Given the description of an element on the screen output the (x, y) to click on. 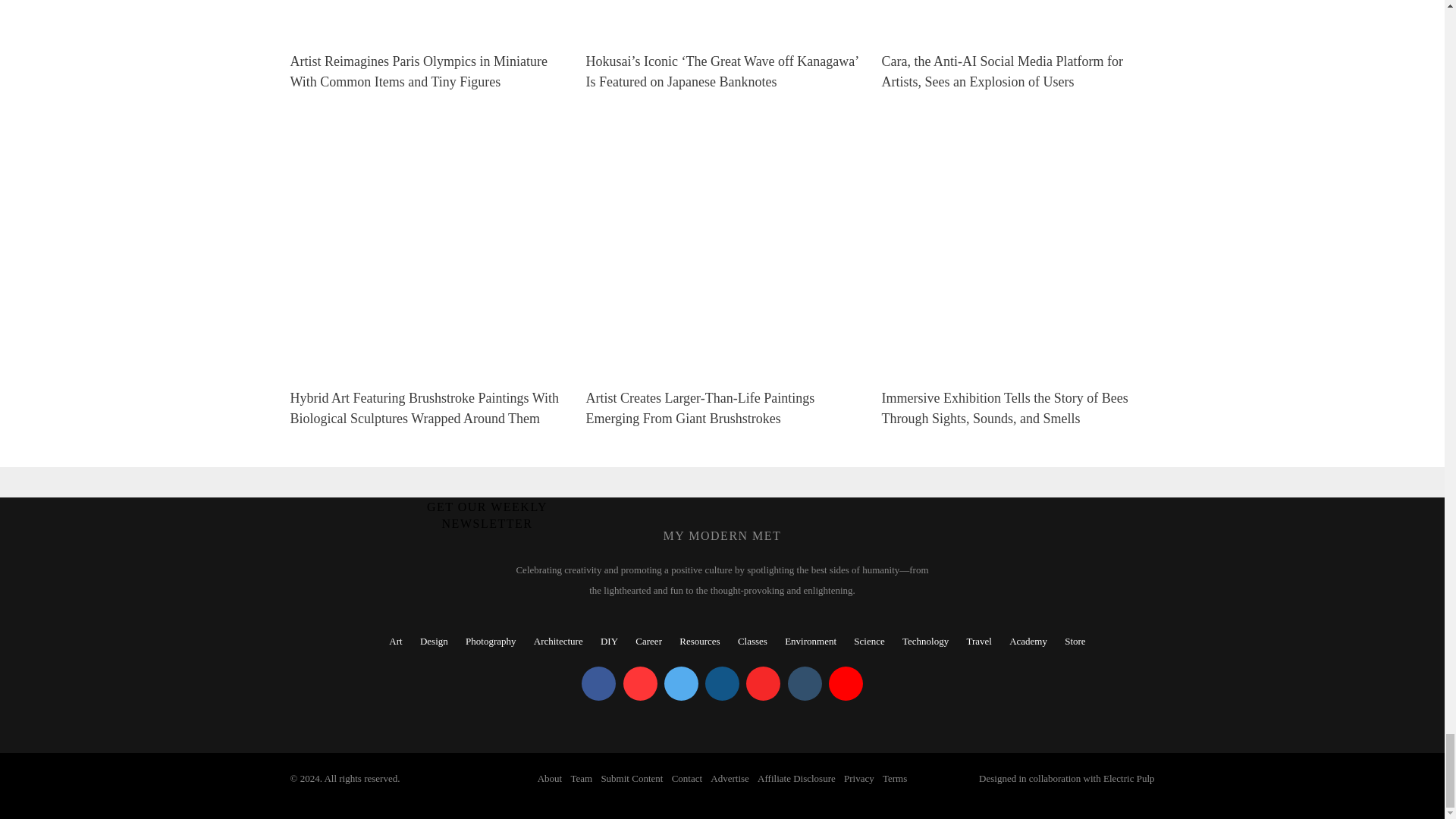
My Modern Met on Facebook (597, 683)
My Modern Met on Pinterest (640, 683)
My Modern Met on Instagram (721, 683)
My Modern Met on Twitter (680, 683)
My Modern Met on YouTube (845, 683)
My Modern Met on Tumblr (804, 683)
